Given the description of an element on the screen output the (x, y) to click on. 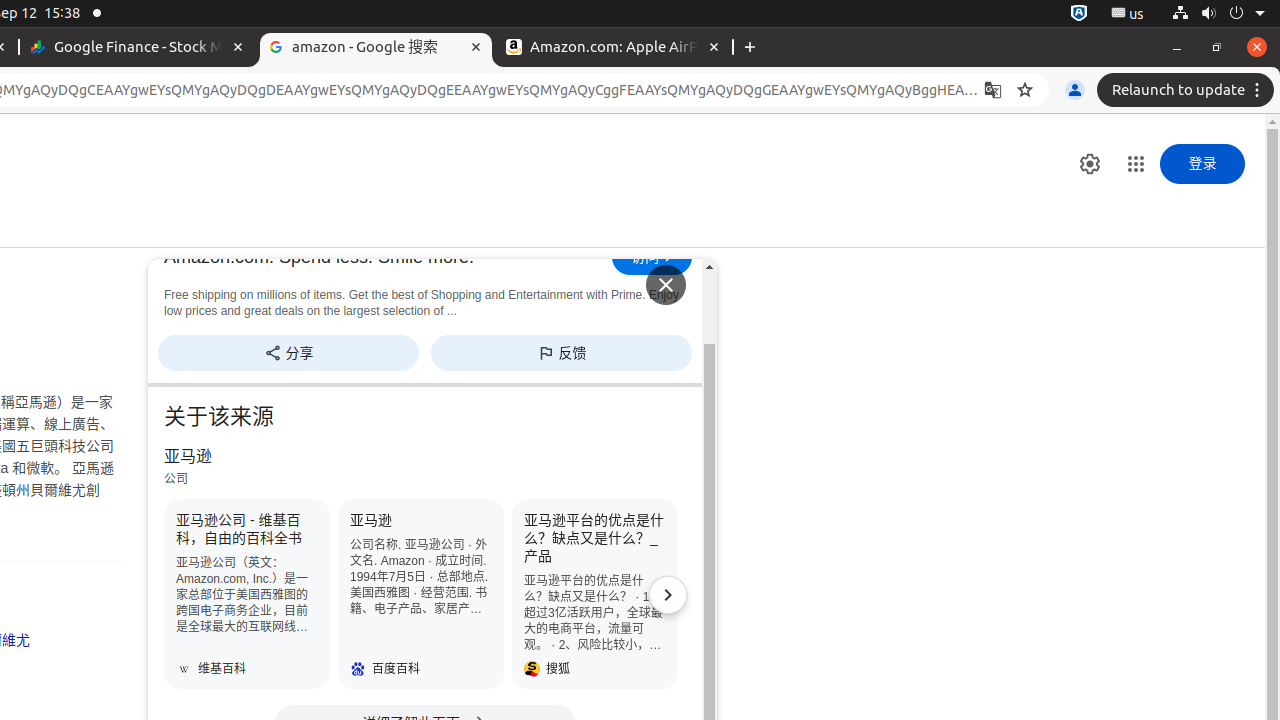
Relaunch to update Element type: push-button (1188, 90)
